Given the description of an element on the screen output the (x, y) to click on. 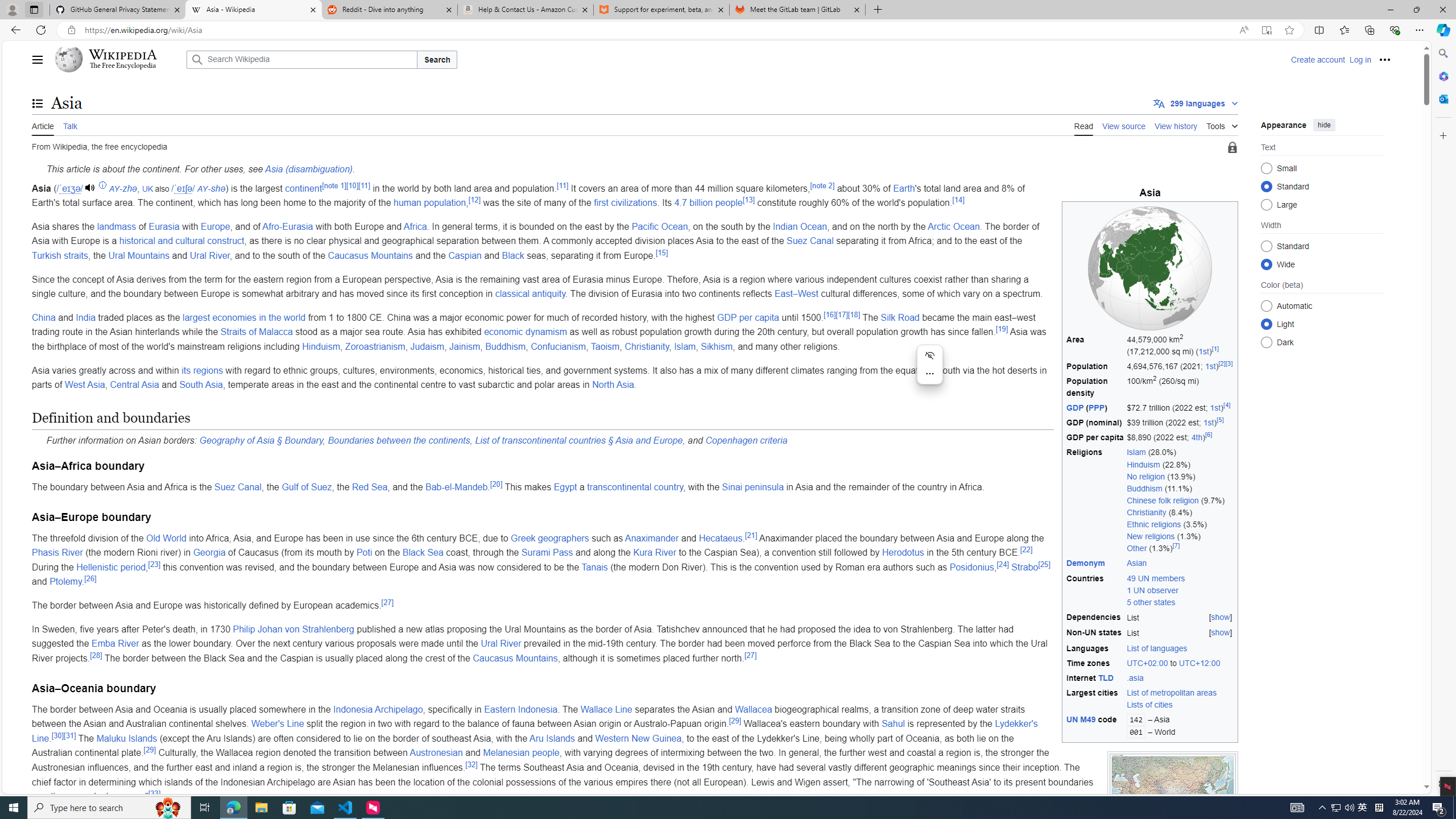
Central Asia (133, 384)
[28] (95, 655)
Red Sea (369, 486)
[14] (957, 198)
Internet TLD (1095, 678)
Help & Contact Us - Amazon Customer Service - Sleeping (525, 9)
[27] (750, 655)
Sikhism (716, 346)
List of metropolitan areas Lists of cities (1179, 698)
Read (1083, 124)
Hellenistic period (110, 566)
Strabo (1024, 566)
Judaism (427, 346)
4th (1196, 437)
Greek geographers (550, 537)
